Given the description of an element on the screen output the (x, y) to click on. 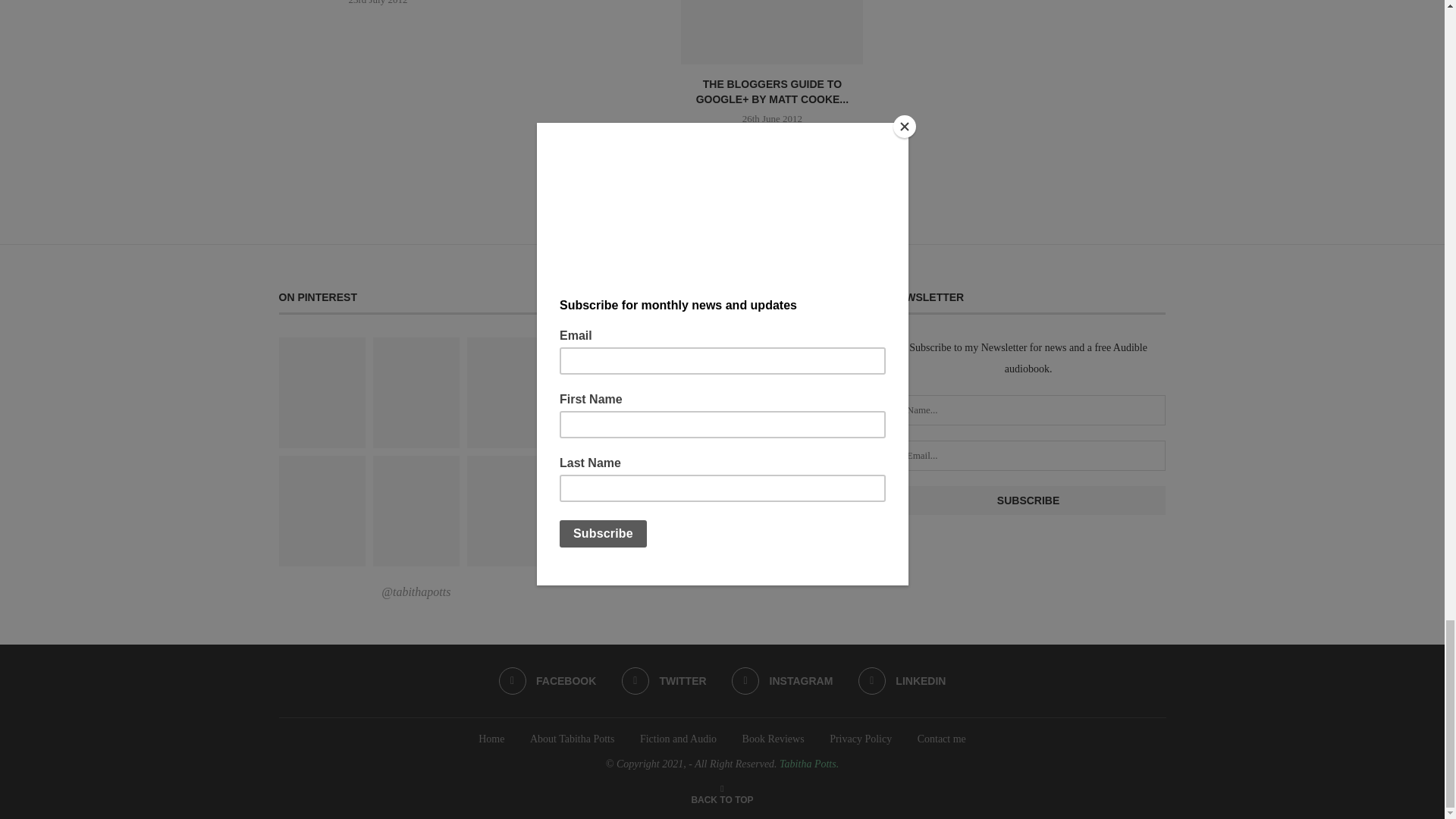
Subscribe (1028, 500)
